Given the description of an element on the screen output the (x, y) to click on. 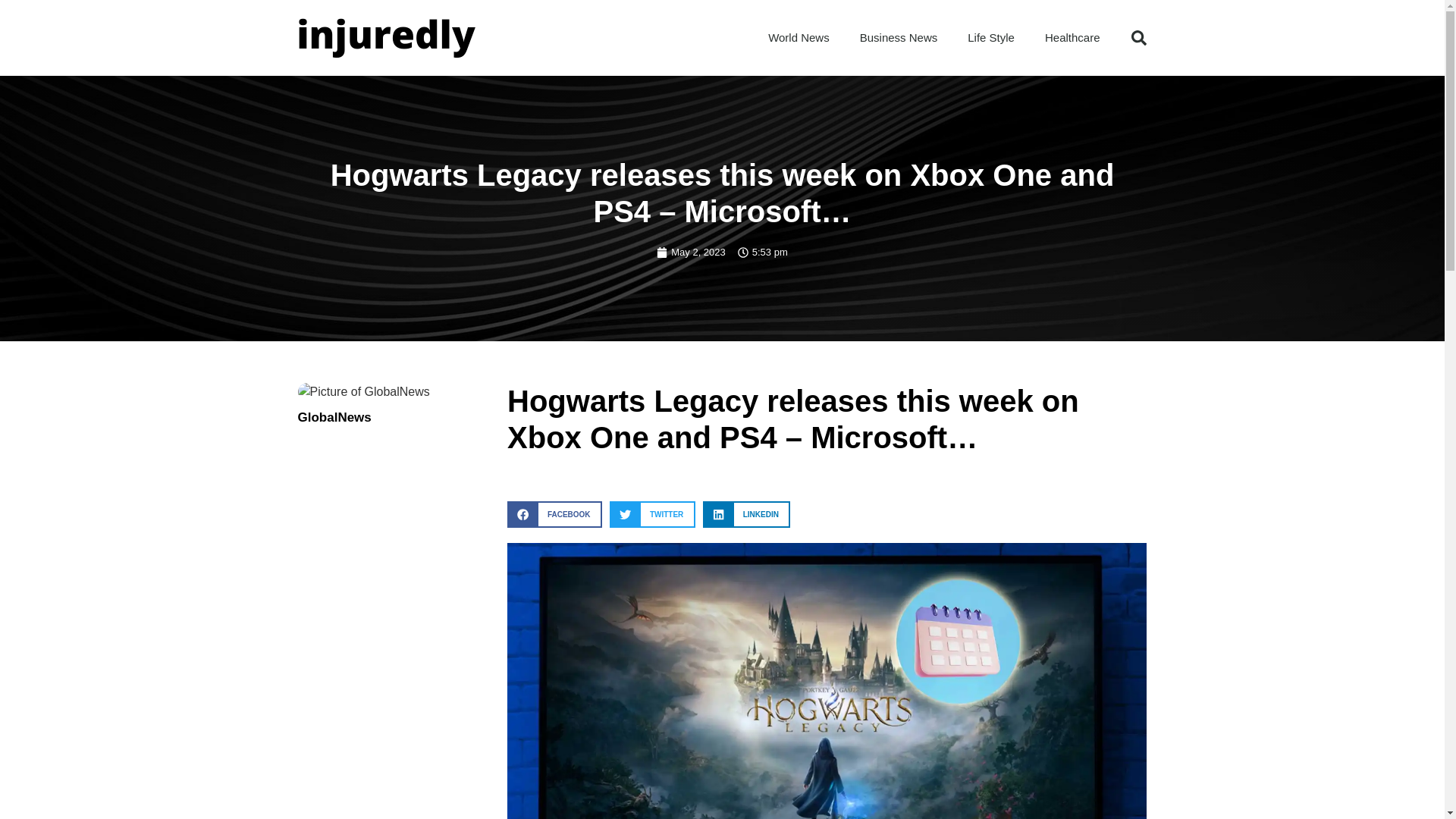
Business News (898, 38)
Life Style (990, 38)
Healthcare (1072, 38)
World News (798, 38)
